Given the description of an element on the screen output the (x, y) to click on. 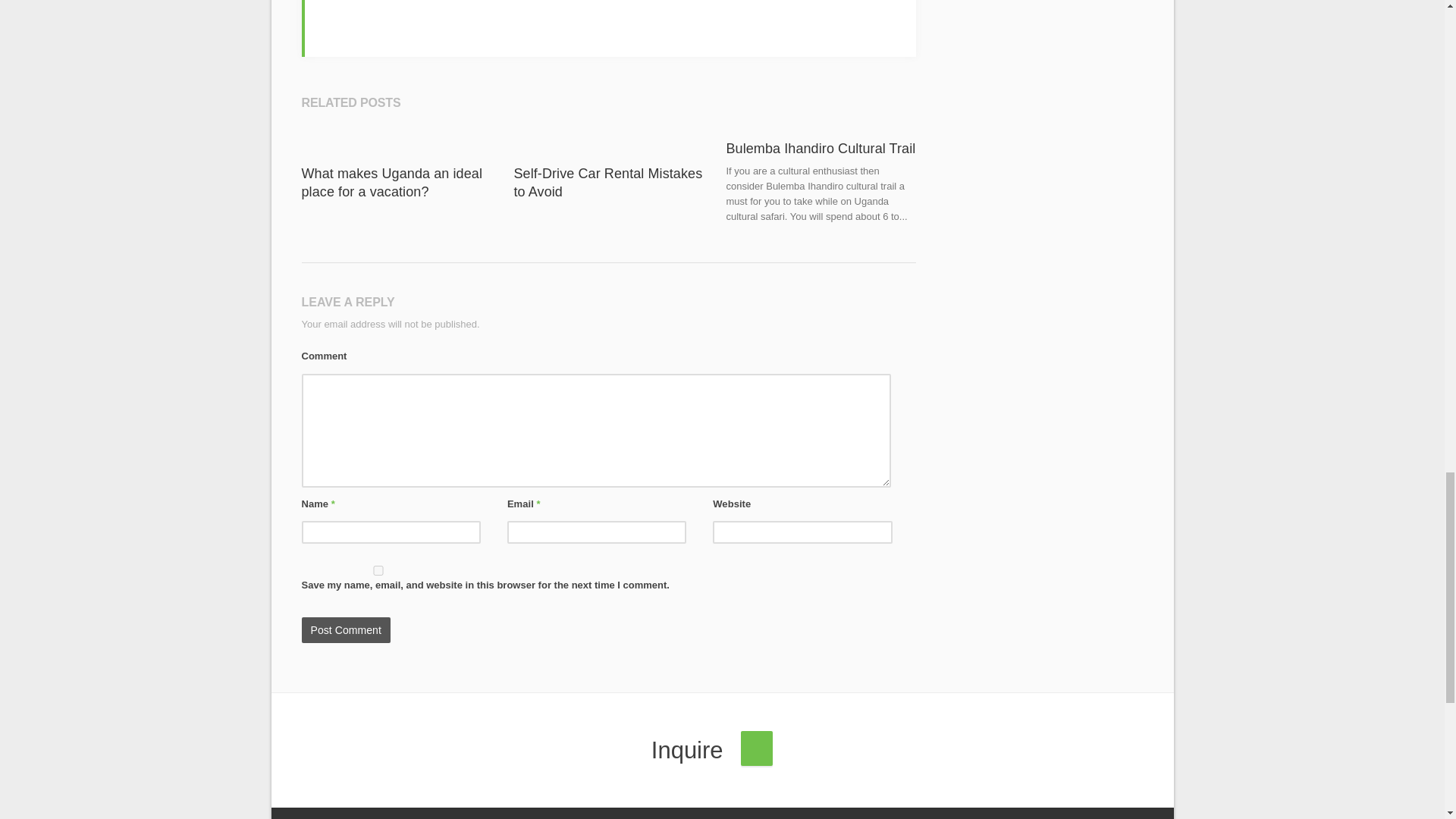
Post Comment (345, 629)
Bulemba Ihandiro Cultural Trail (820, 148)
Post Comment (345, 629)
yes (378, 570)
What makes Uganda an ideal place for a vacation? (391, 182)
Self-Drive Car Rental Mistakes to Avoid (607, 182)
